Given the description of an element on the screen output the (x, y) to click on. 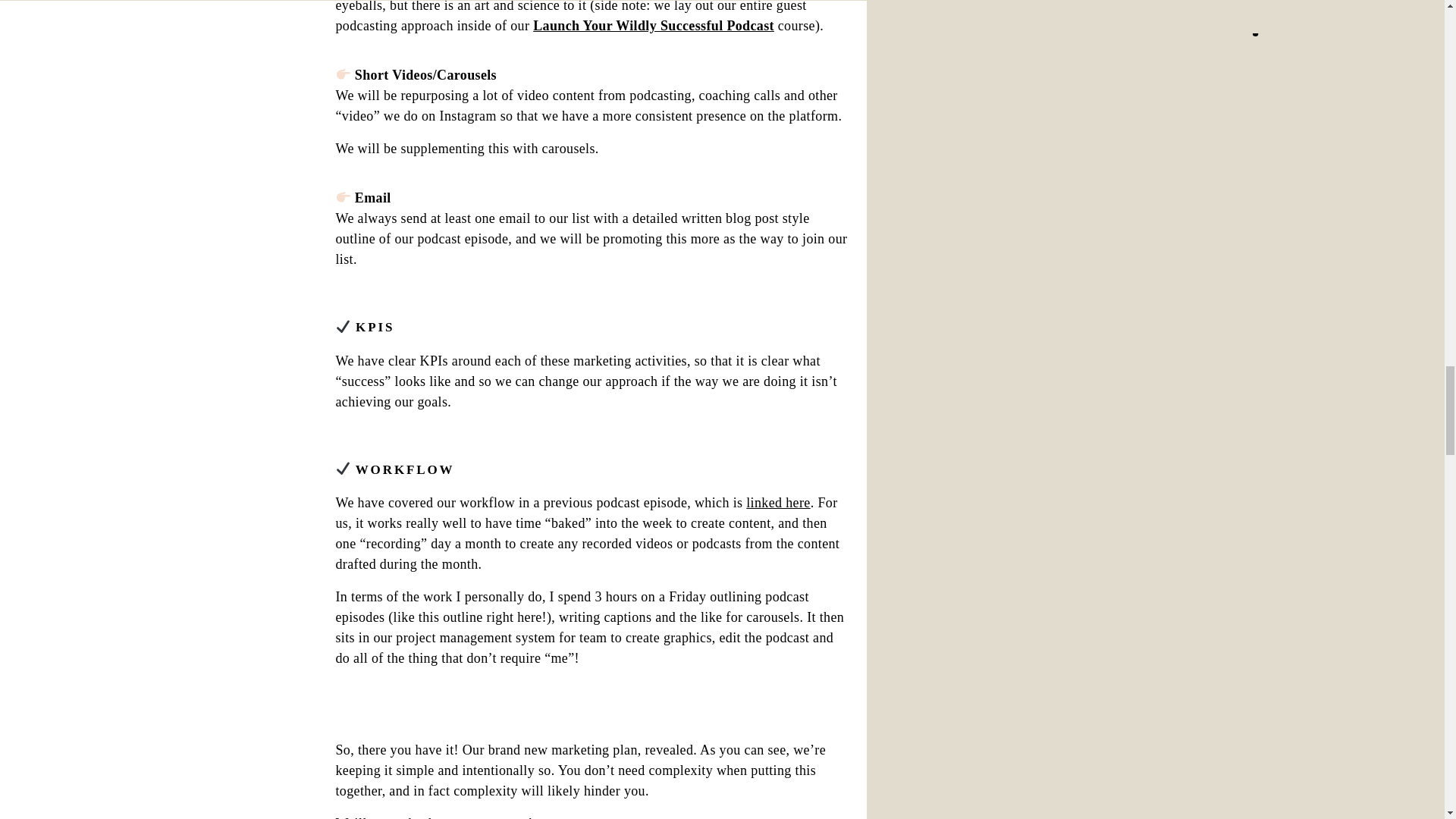
linked here (777, 502)
Launch Your Wildly Successful Podcast (653, 25)
